Given the description of an element on the screen output the (x, y) to click on. 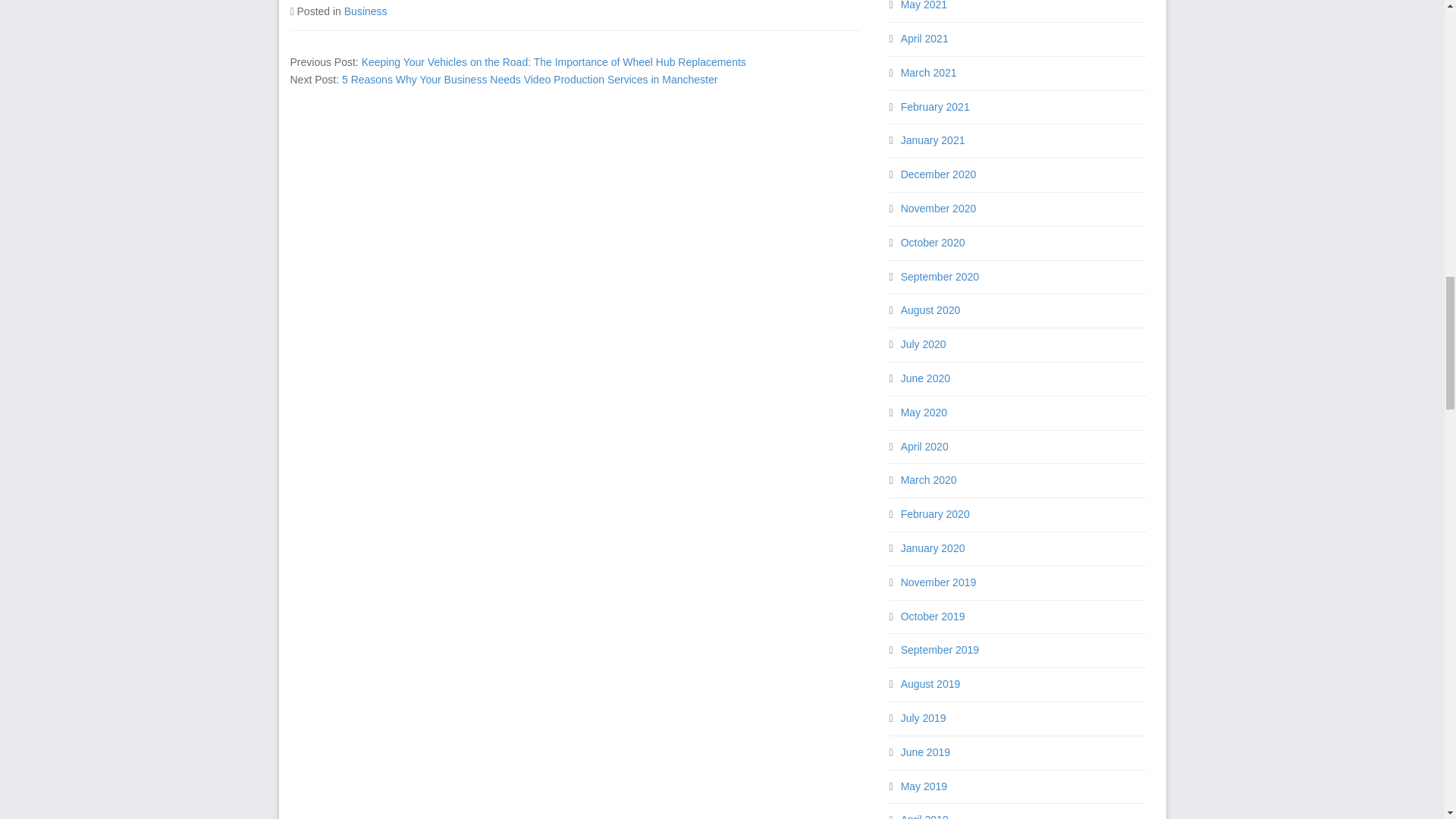
Business (365, 10)
